Given the description of an element on the screen output the (x, y) to click on. 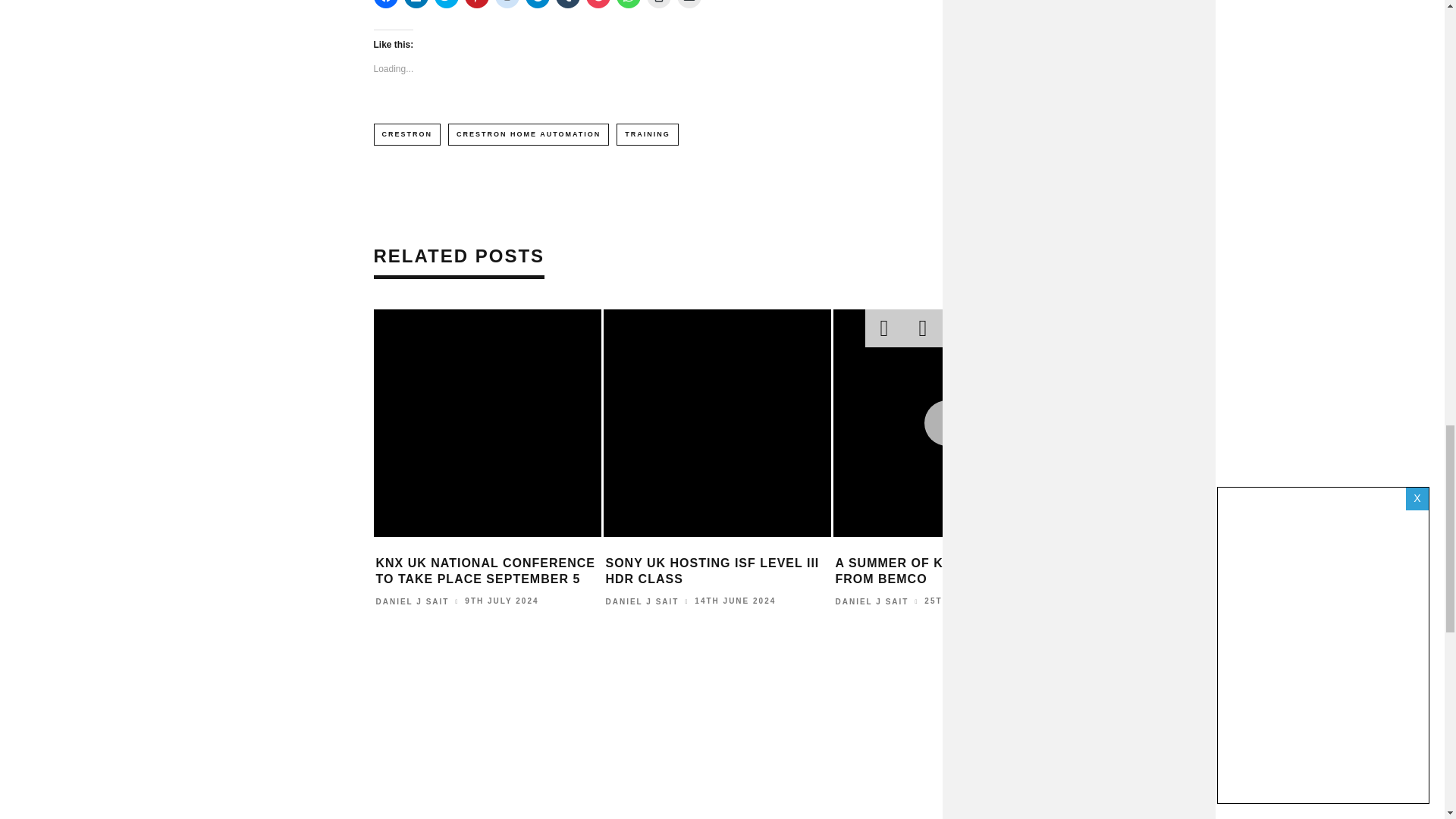
Click to share on Telegram (536, 4)
Click to share on LinkedIn (415, 4)
Click to share on Pinterest (475, 4)
Click to share on Facebook (384, 4)
Click to share on Twitter (445, 4)
Click to share on Reddit (506, 4)
